Given the description of an element on the screen output the (x, y) to click on. 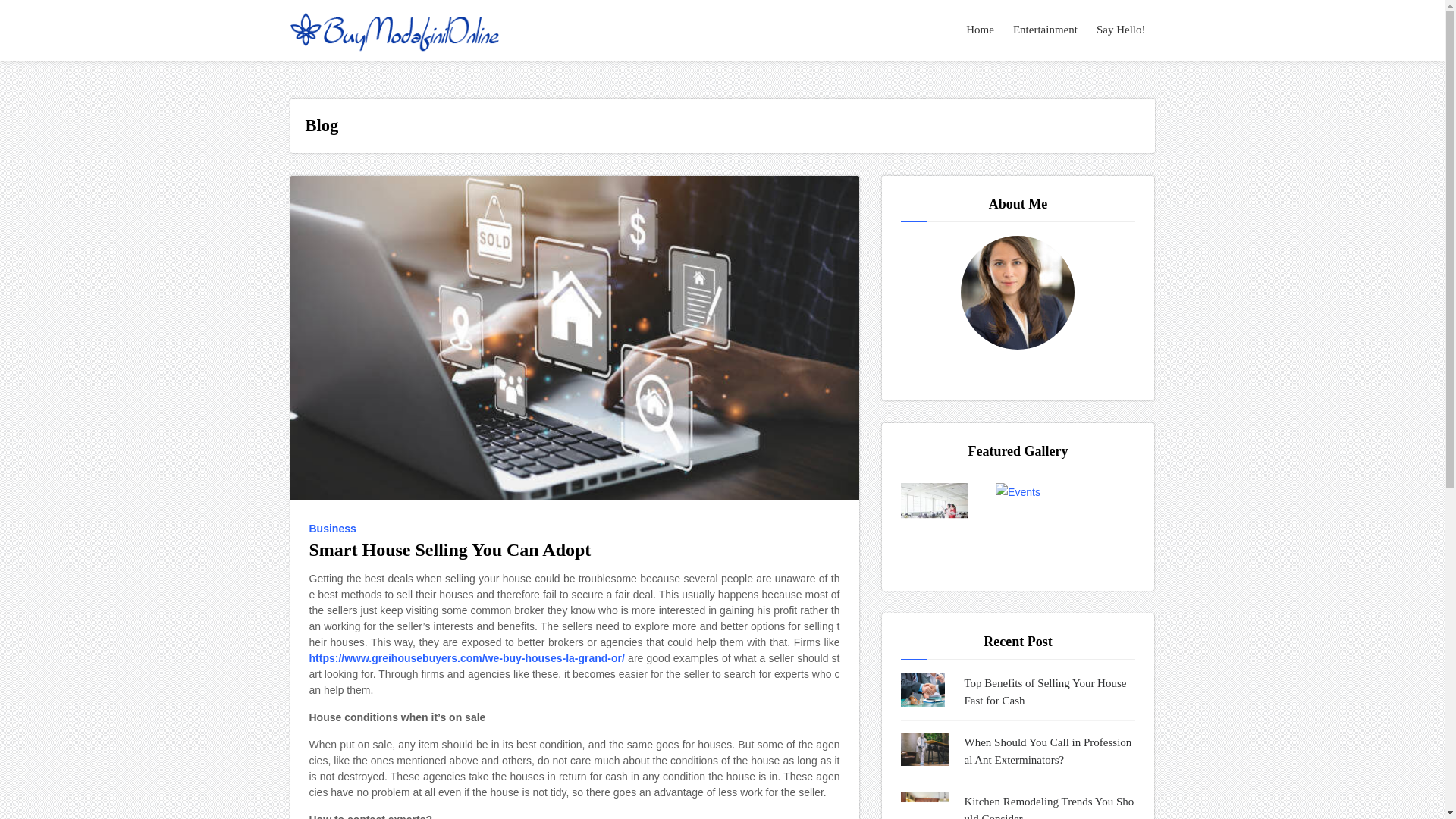
Top Benefits of Selling Your House Fast for Cash (1049, 691)
Business (334, 528)
Entertainment (1045, 29)
When Should You Call in Professional Ant Exterminators? (1049, 750)
Entertainment (1045, 29)
Say Hello! (1121, 29)
Say Hello! (1121, 29)
Kitchen Remodeling Trends You Should Consider (1049, 806)
